Given the description of an element on the screen output the (x, y) to click on. 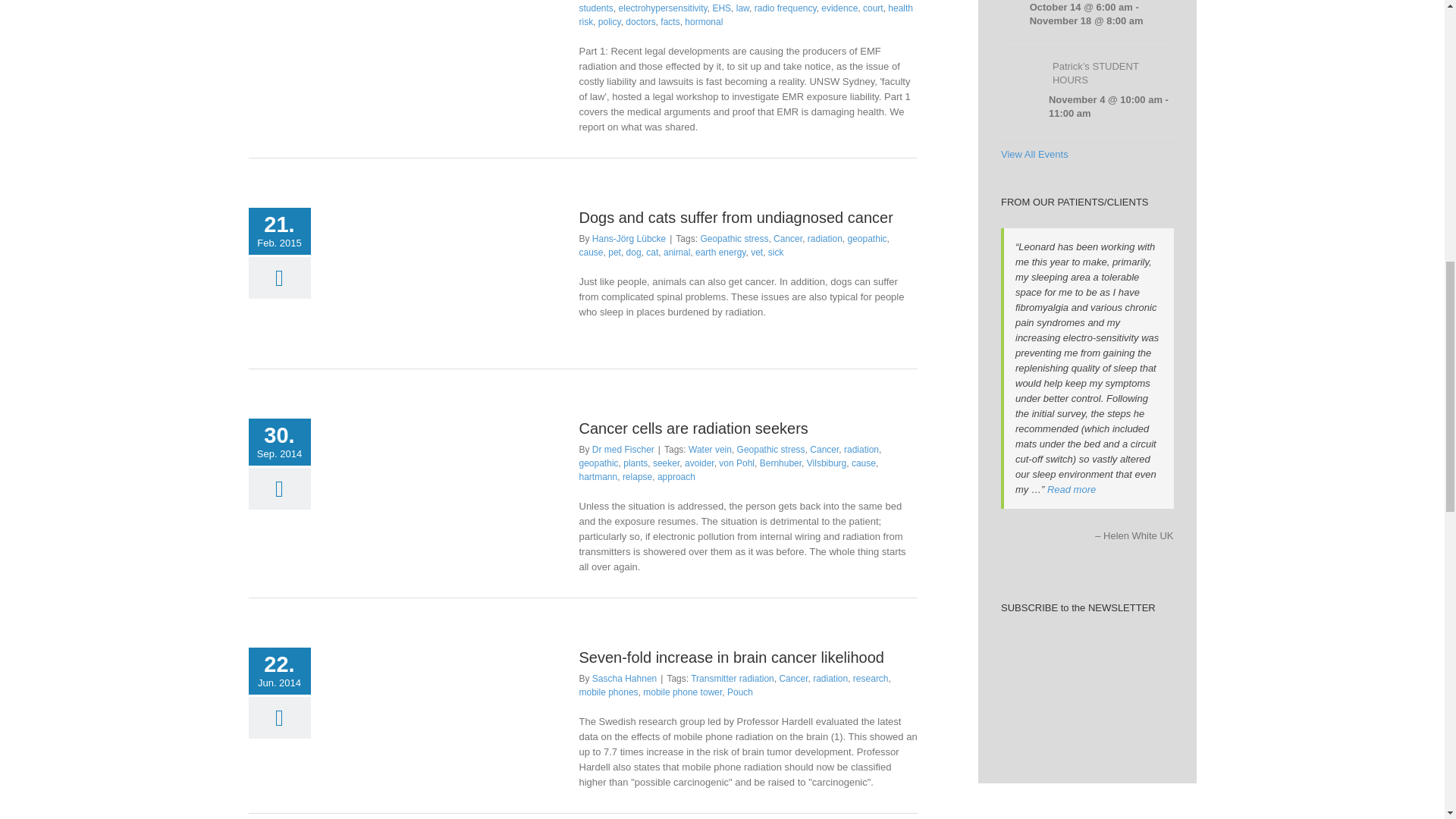
Complete testimonial by Helen White UK (1071, 489)
Posts by Dr med Fischer (622, 449)
Posts by Sascha Hahnen (624, 678)
SUBSCRIBE to the NEWSLETTER (1087, 634)
